Given the description of an element on the screen output the (x, y) to click on. 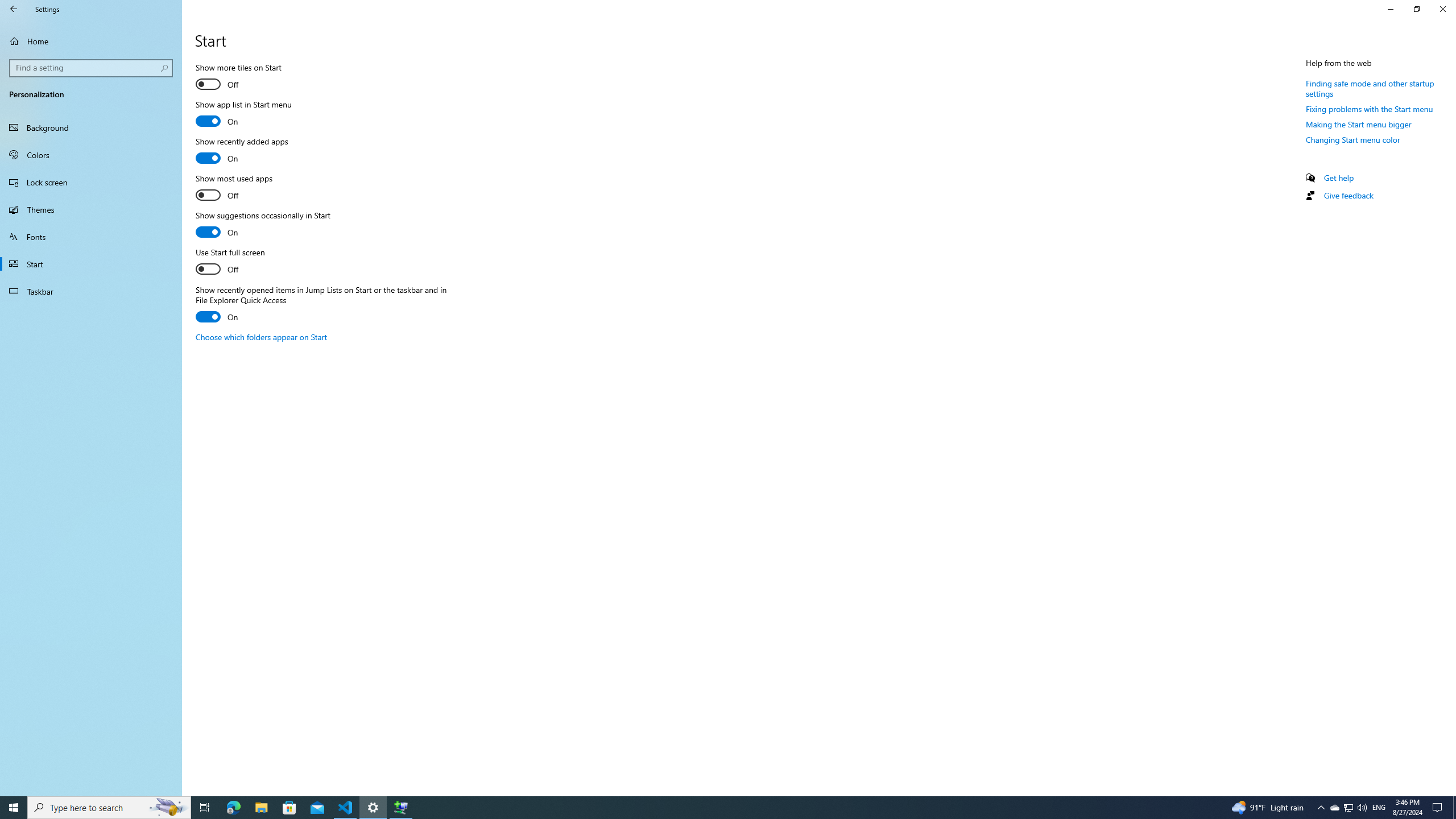
Show suggestions occasionally in Start (1347, 807)
Settings - 1 running window (262, 224)
Lock screen (373, 807)
